Given the description of an element on the screen output the (x, y) to click on. 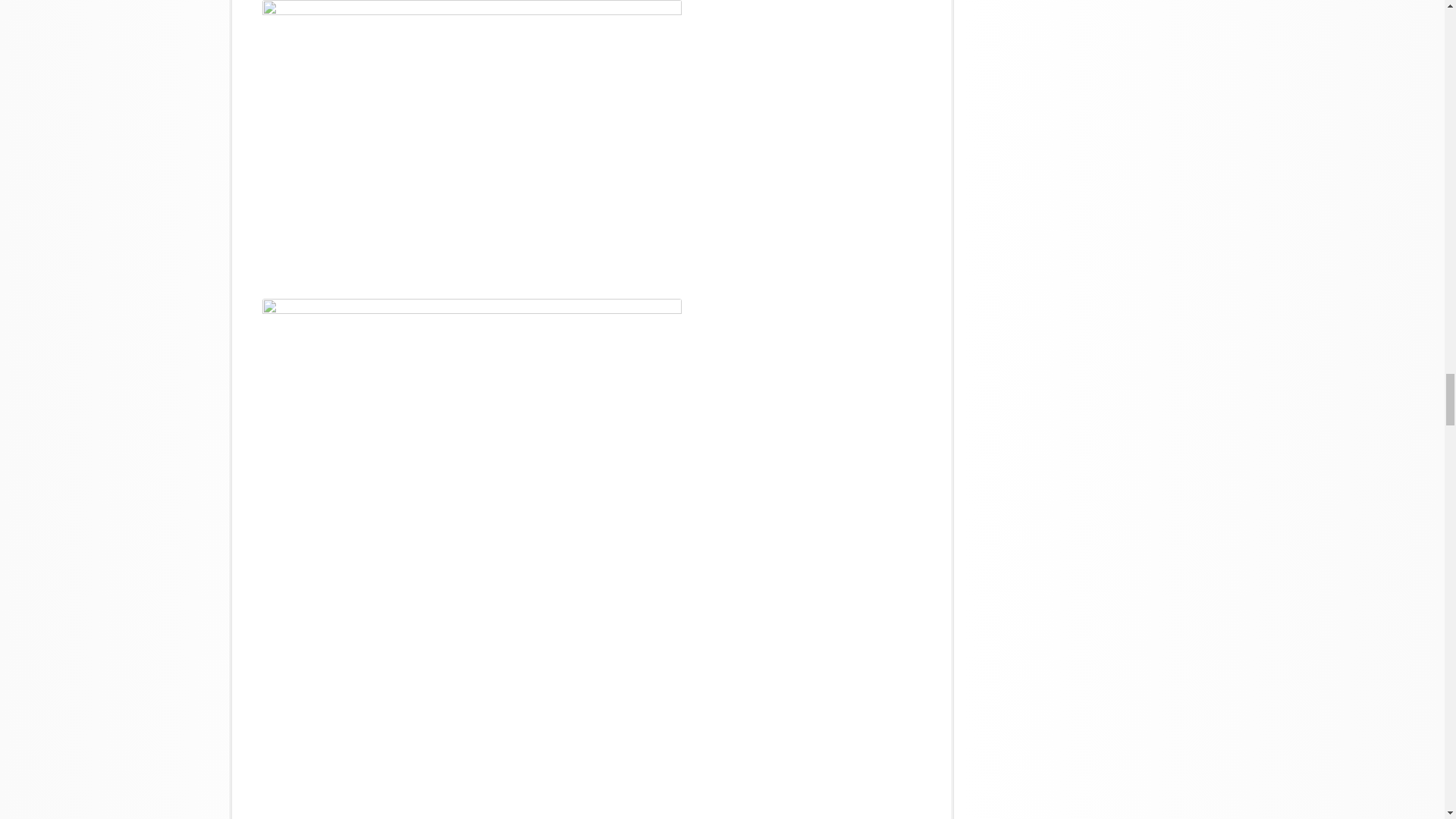
k (471, 139)
